Given the description of an element on the screen output the (x, y) to click on. 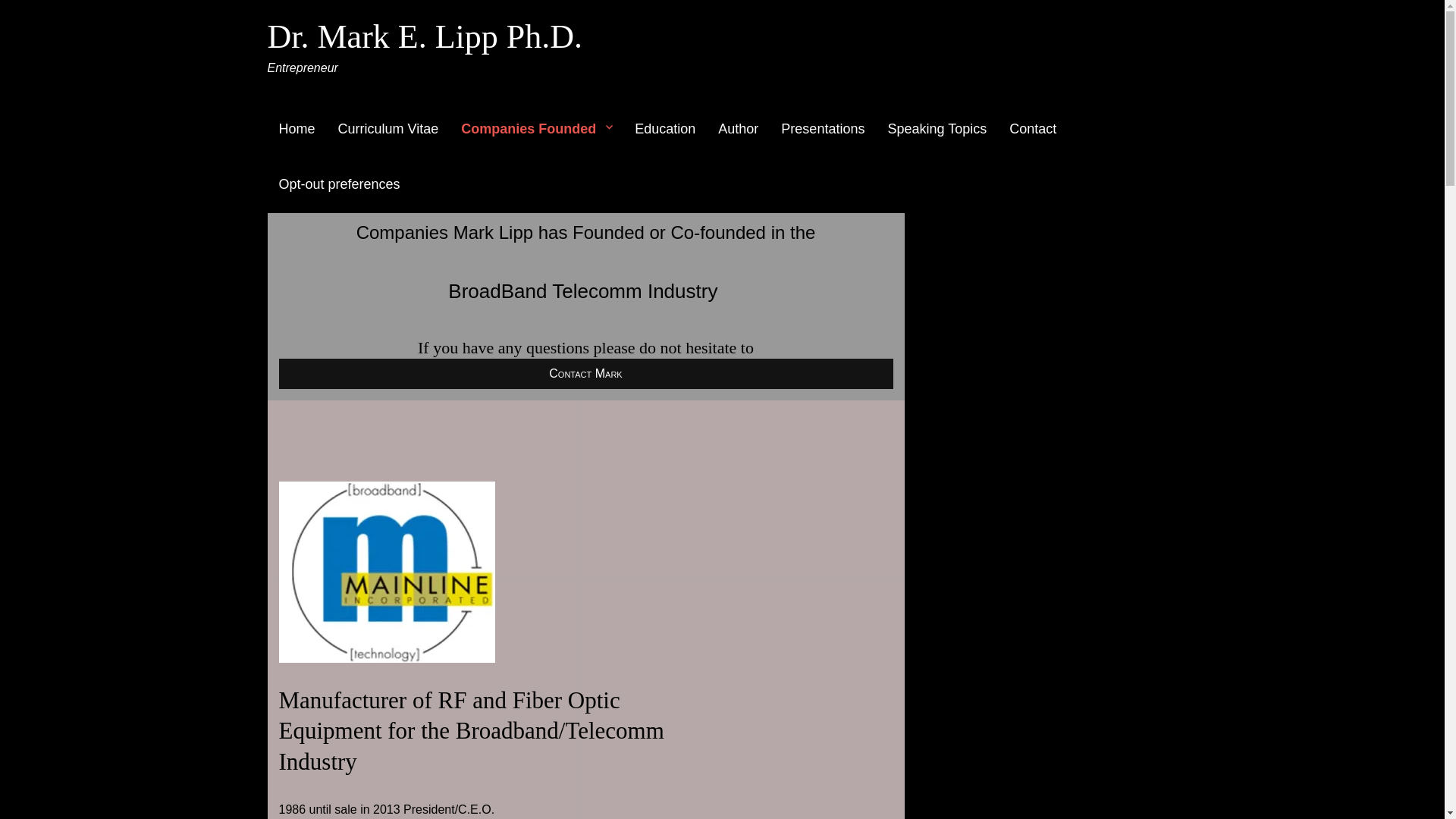
Home (296, 129)
Education (664, 129)
Curriculum Vitae (387, 129)
Presentations (823, 129)
Author (738, 129)
Dr. Mark E. Lipp Ph.D. (424, 36)
Companies Founded (536, 129)
Opt-out preferences (338, 184)
Contact (1032, 129)
Contact Mark (586, 373)
